Given the description of an element on the screen output the (x, y) to click on. 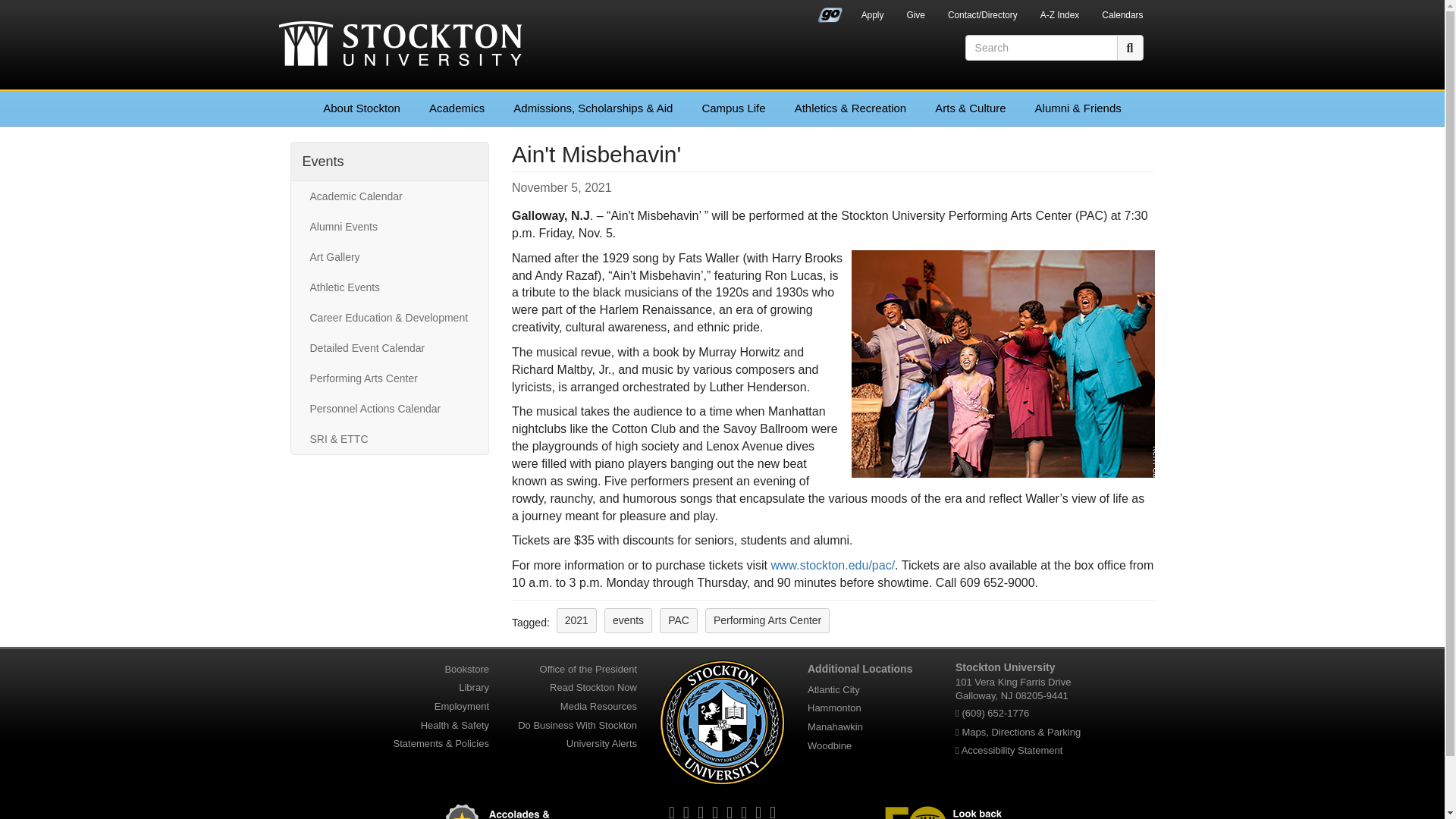
Bookstore (466, 668)
Stockton University (400, 45)
Search (1129, 47)
Athletic Events (389, 286)
Academics (456, 108)
About Stockton (361, 108)
Call with Google Voice (994, 713)
2021 (576, 620)
Calendars (1122, 17)
A-Z Index (1059, 17)
Employment (461, 706)
events (628, 620)
Office of the President (588, 668)
Read Stockton Now (593, 687)
Apply (872, 17)
